Given the description of an element on the screen output the (x, y) to click on. 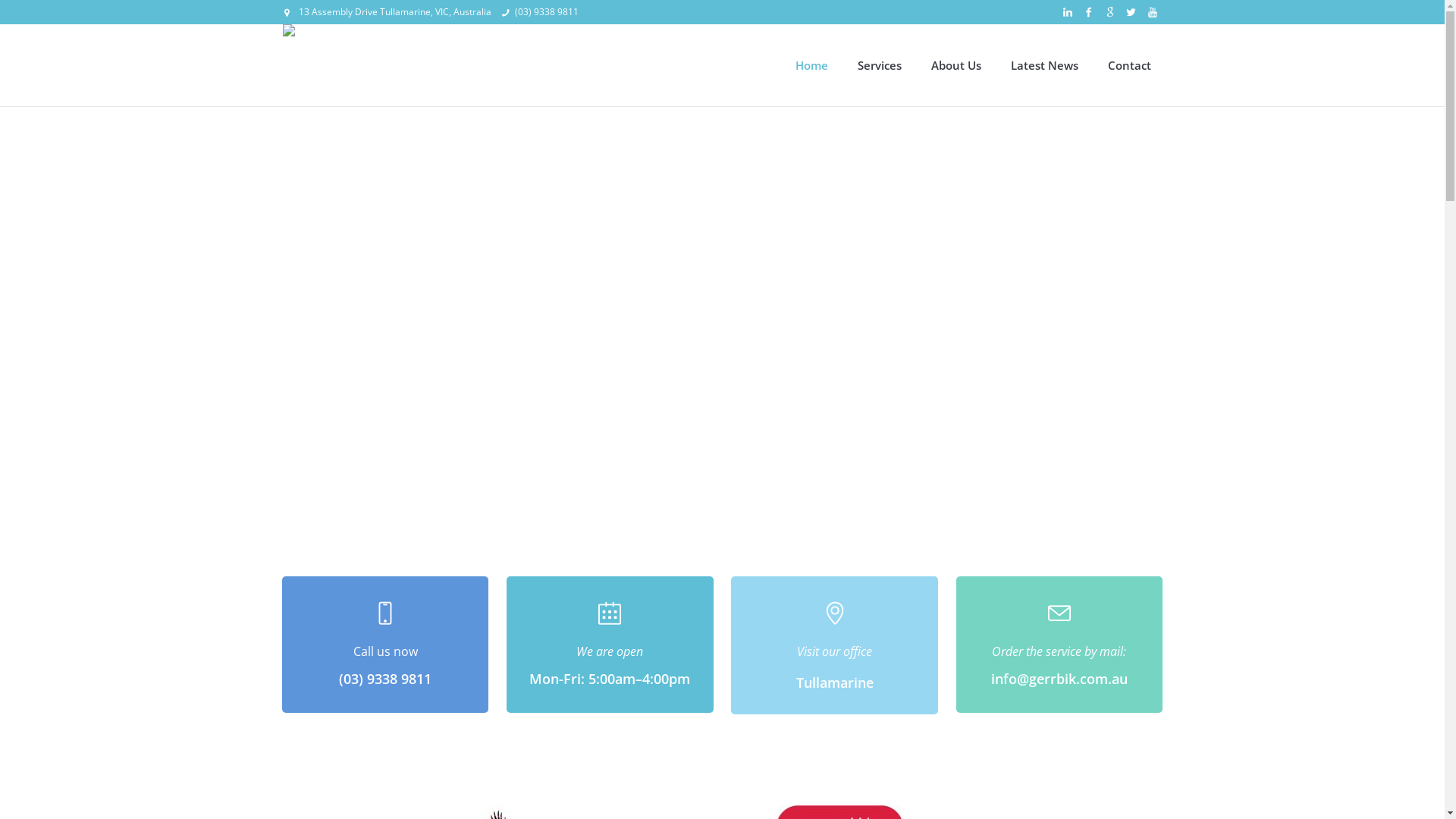
YouTube Element type: hover (1152, 11)
Services Element type: text (879, 64)
Latest News Element type: text (1044, 64)
info@gerrbik.com.au Element type: text (1059, 678)
Facebook Element type: hover (1088, 11)
Twitter Element type: hover (1131, 11)
Contact Element type: text (1129, 64)
About Us Element type: text (955, 64)
Home Element type: text (811, 64)
Google+ Element type: hover (1109, 11)
